Given the description of an element on the screen output the (x, y) to click on. 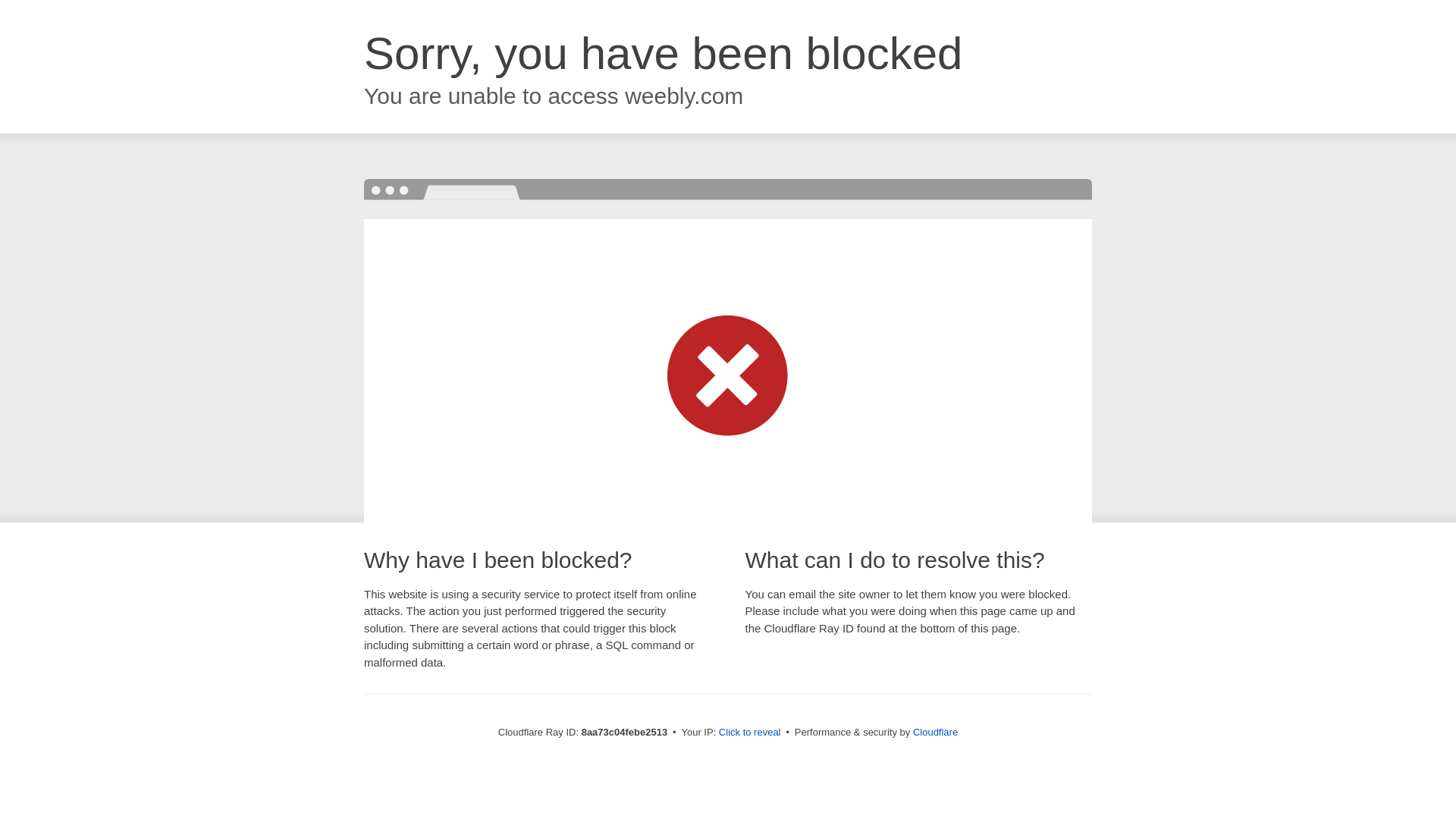
Click to reveal (749, 732)
Cloudflare (935, 731)
